Given the description of an element on the screen output the (x, y) to click on. 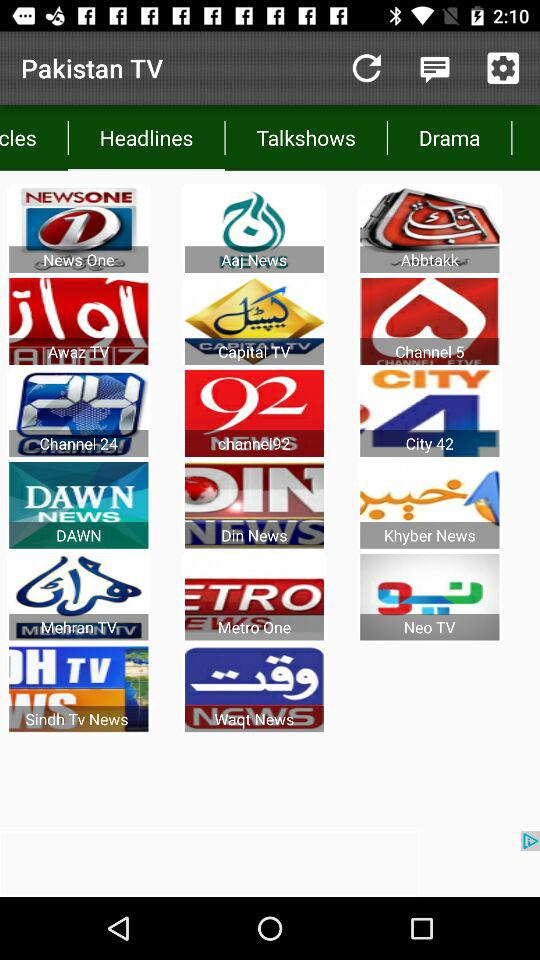
refresh botton (366, 67)
